Given the description of an element on the screen output the (x, y) to click on. 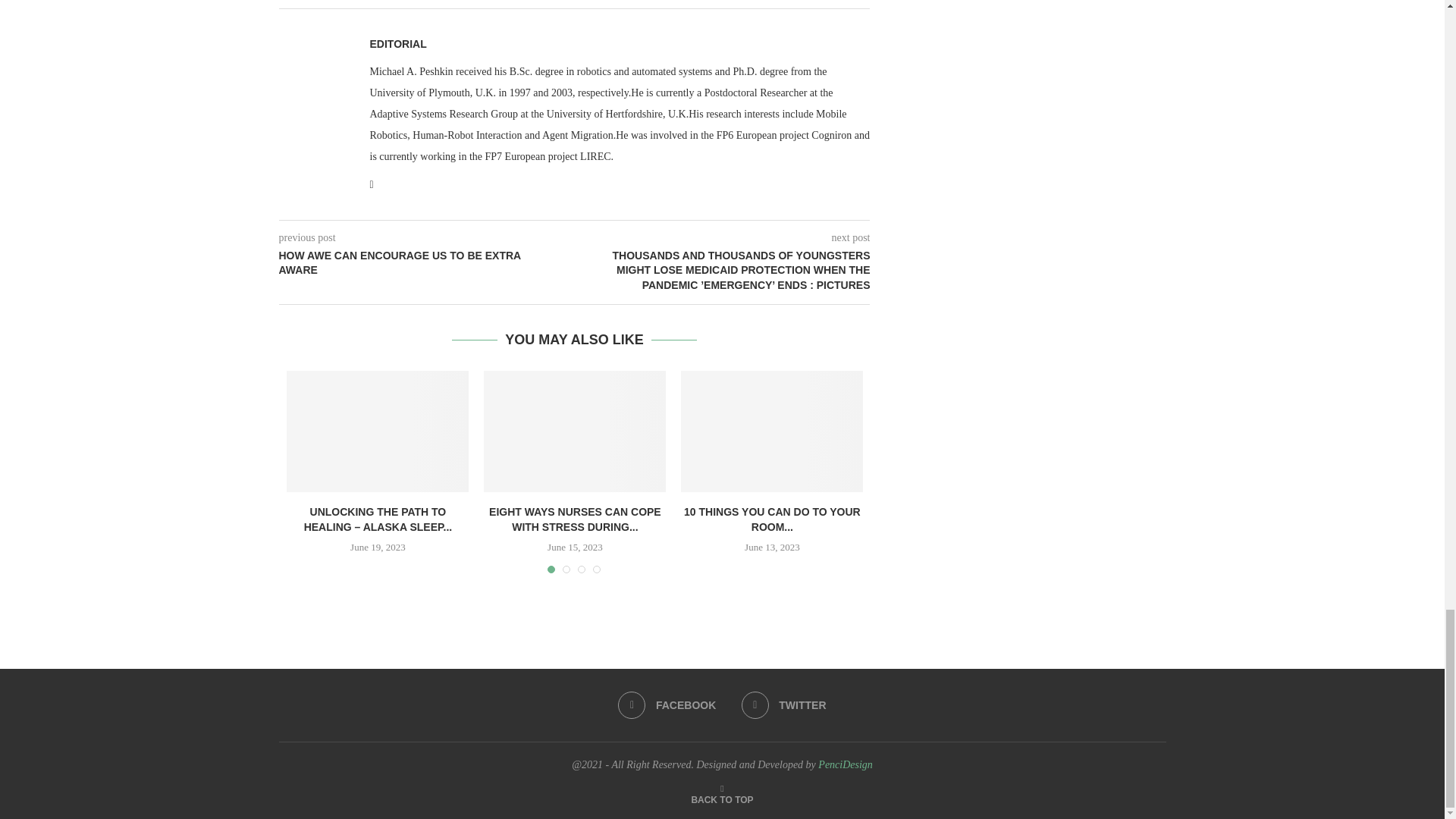
EDITORIAL (397, 43)
HOW AWE CAN ENCOURAGE US TO BE EXTRA AWARE (427, 263)
Author Editorial (397, 43)
